Given the description of an element on the screen output the (x, y) to click on. 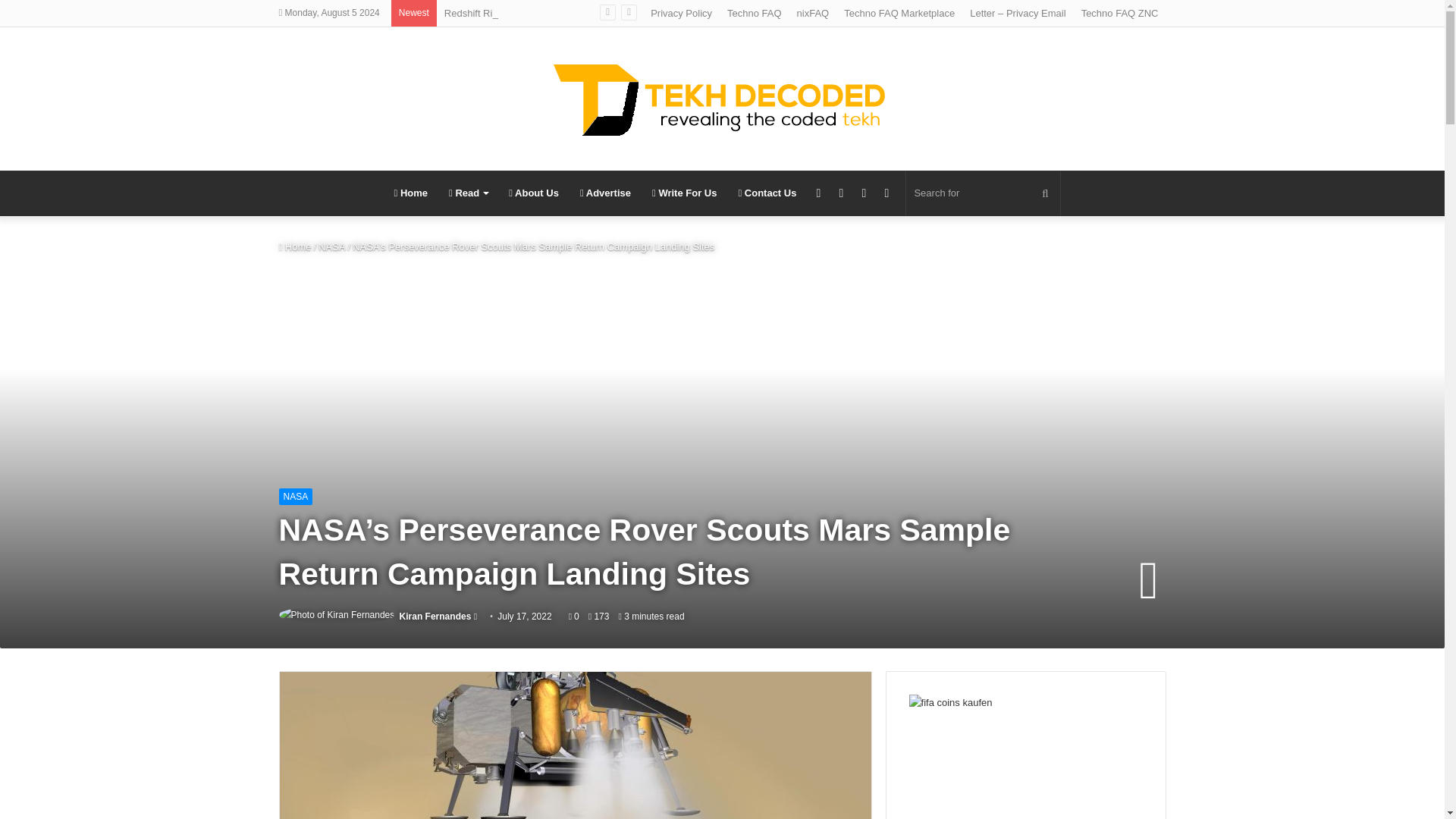
Advertise (605, 193)
NASA (296, 496)
Tekh Decoded (722, 98)
Redshift Riddles: Decoding Distance With Space Telescopes (577, 12)
Read (467, 193)
Techno FAQ (754, 13)
NASA (331, 246)
Privacy Policy (681, 13)
About Us (533, 193)
Kiran Fernandes (434, 615)
Techno FAQ ZNC (1120, 13)
Home (411, 193)
Contact Us (766, 193)
Write For Us (684, 193)
Kiran Fernandes (434, 615)
